Given the description of an element on the screen output the (x, y) to click on. 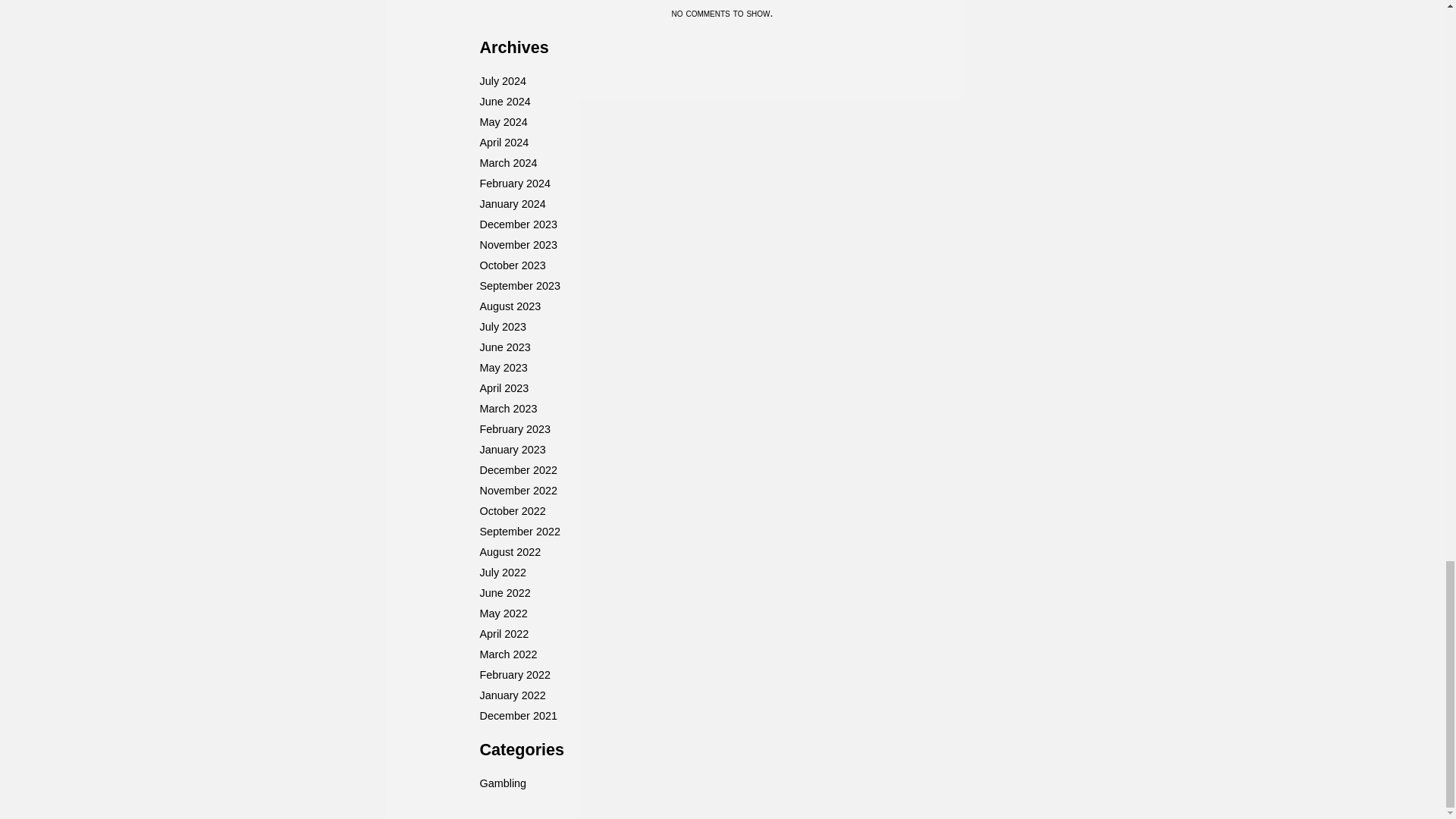
May 2023 (503, 367)
July 2023 (502, 326)
March 2024 (508, 162)
August 2022 (509, 551)
November 2023 (517, 244)
November 2022 (517, 490)
May 2022 (503, 613)
October 2023 (511, 265)
March 2022 (508, 654)
May 2024 (503, 121)
February 2024 (514, 183)
April 2022 (503, 633)
September 2022 (519, 531)
March 2023 (508, 408)
February 2023 (514, 428)
